Given the description of an element on the screen output the (x, y) to click on. 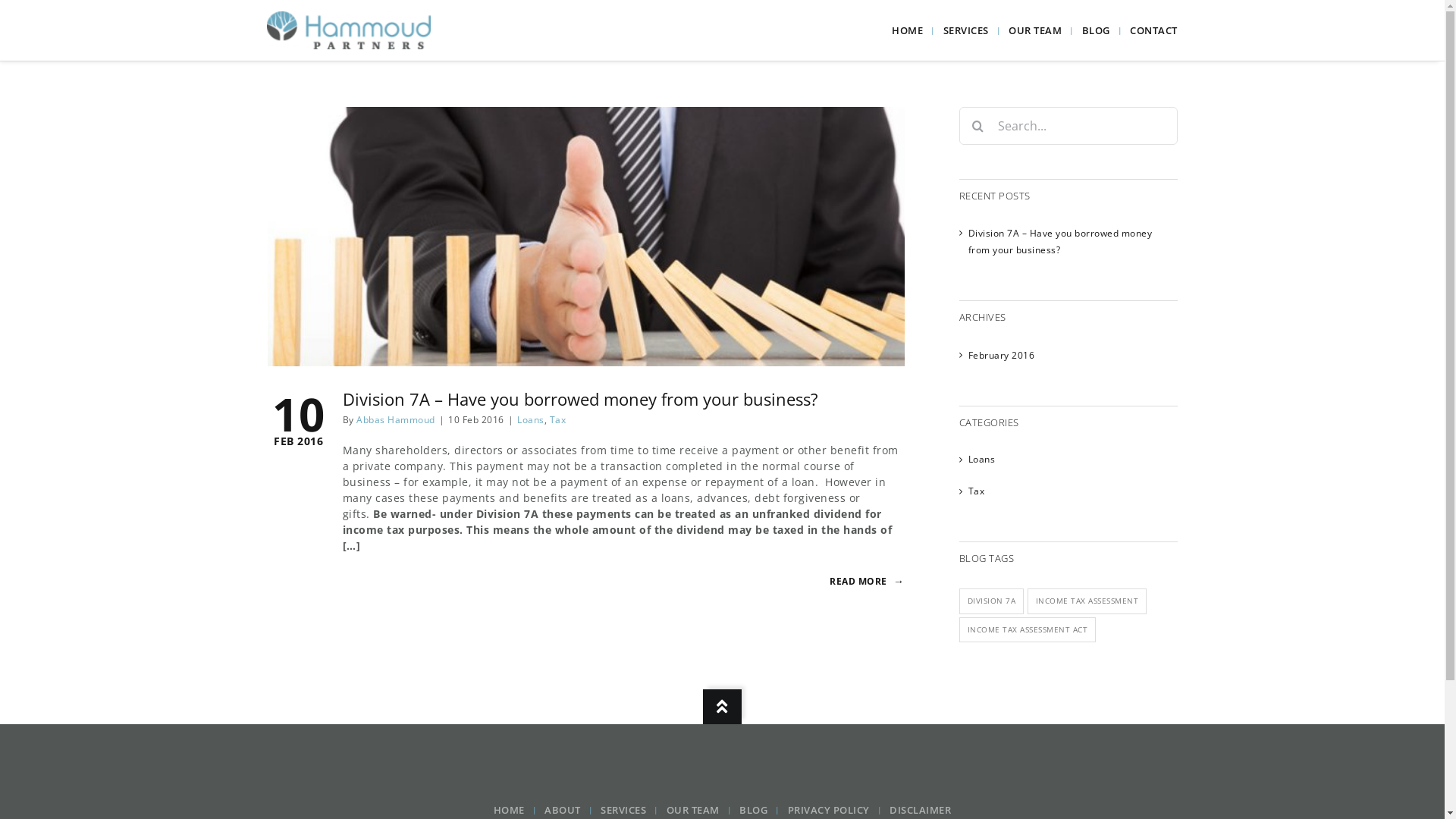
OUR TEAM Element type: text (699, 810)
SERVICES Element type: text (629, 810)
February 2016 Element type: text (1000, 354)
CONTACT Element type: text (1153, 30)
Tax Element type: text (1068, 490)
HOME Element type: text (913, 30)
Loans Element type: text (530, 419)
SERVICES Element type: text (972, 30)
DISCLAIMER Element type: text (919, 810)
INCOME TAX ASSESSMENT Element type: text (1086, 601)
Tax Element type: text (557, 419)
OUR TEAM Element type: text (1041, 30)
Loans Element type: text (1068, 459)
Abbas Hammoud Element type: text (395, 419)
DIVISION 7A Element type: text (990, 601)
BLOG Element type: text (1102, 30)
PRIVACY POLICY Element type: text (834, 810)
INCOME TAX ASSESSMENT ACT Element type: text (1026, 630)
ABOUT Element type: text (568, 810)
READ MORE Element type: text (866, 580)
HOME Element type: text (515, 810)
BLOG Element type: text (759, 810)
